Given the description of an element on the screen output the (x, y) to click on. 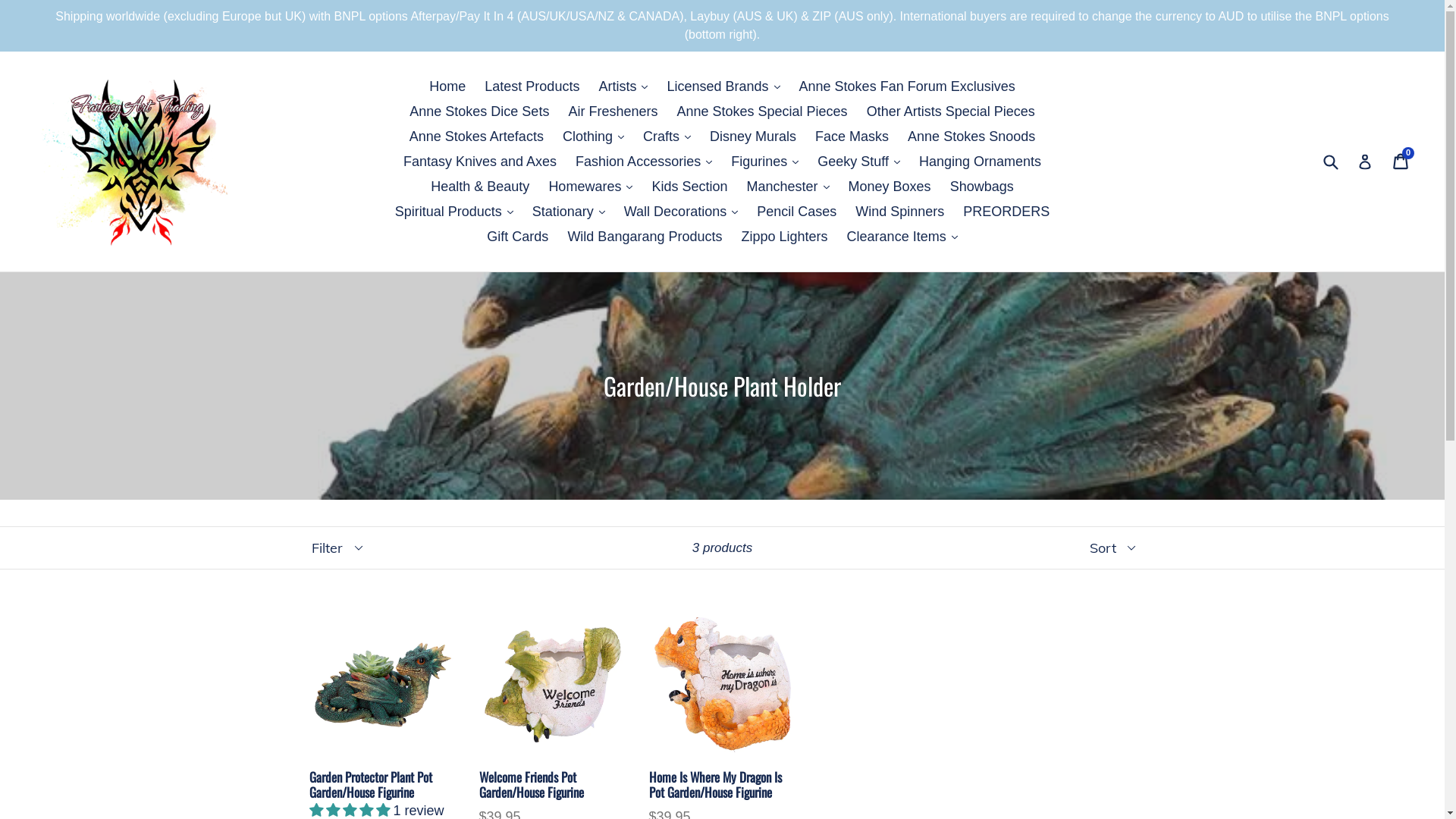
Log in Element type: text (1364, 161)
Anne Stokes Artefacts Element type: text (476, 136)
Wild Bangarang Products Element type: text (644, 236)
Kids Section Element type: text (688, 186)
Health & Beauty Element type: text (479, 186)
Pencil Cases Element type: text (796, 210)
Cart
Cart
0 Element type: text (1401, 161)
Air Fresheners Element type: text (612, 110)
Home Element type: text (447, 86)
Showbags Element type: text (981, 186)
Anne Stokes Dice Sets Element type: text (478, 110)
PREORDERS Element type: text (1006, 210)
Anne Stokes Snoods Element type: text (971, 136)
Face Masks Element type: text (851, 136)
Anne Stokes Fan Forum Exclusives Element type: text (906, 86)
Fantasy Knives and Axes Element type: text (479, 160)
Money Boxes Element type: text (889, 186)
Other Artists Special Pieces Element type: text (950, 110)
Zippo Lighters Element type: text (784, 236)
Hanging Ornaments Element type: text (979, 160)
Anne Stokes Special Pieces Element type: text (761, 110)
Gift Cards Element type: text (517, 236)
Latest Products Element type: text (531, 86)
Disney Murals Element type: text (752, 136)
Submit Element type: text (1329, 161)
Wind Spinners Element type: text (899, 210)
